Given the description of an element on the screen output the (x, y) to click on. 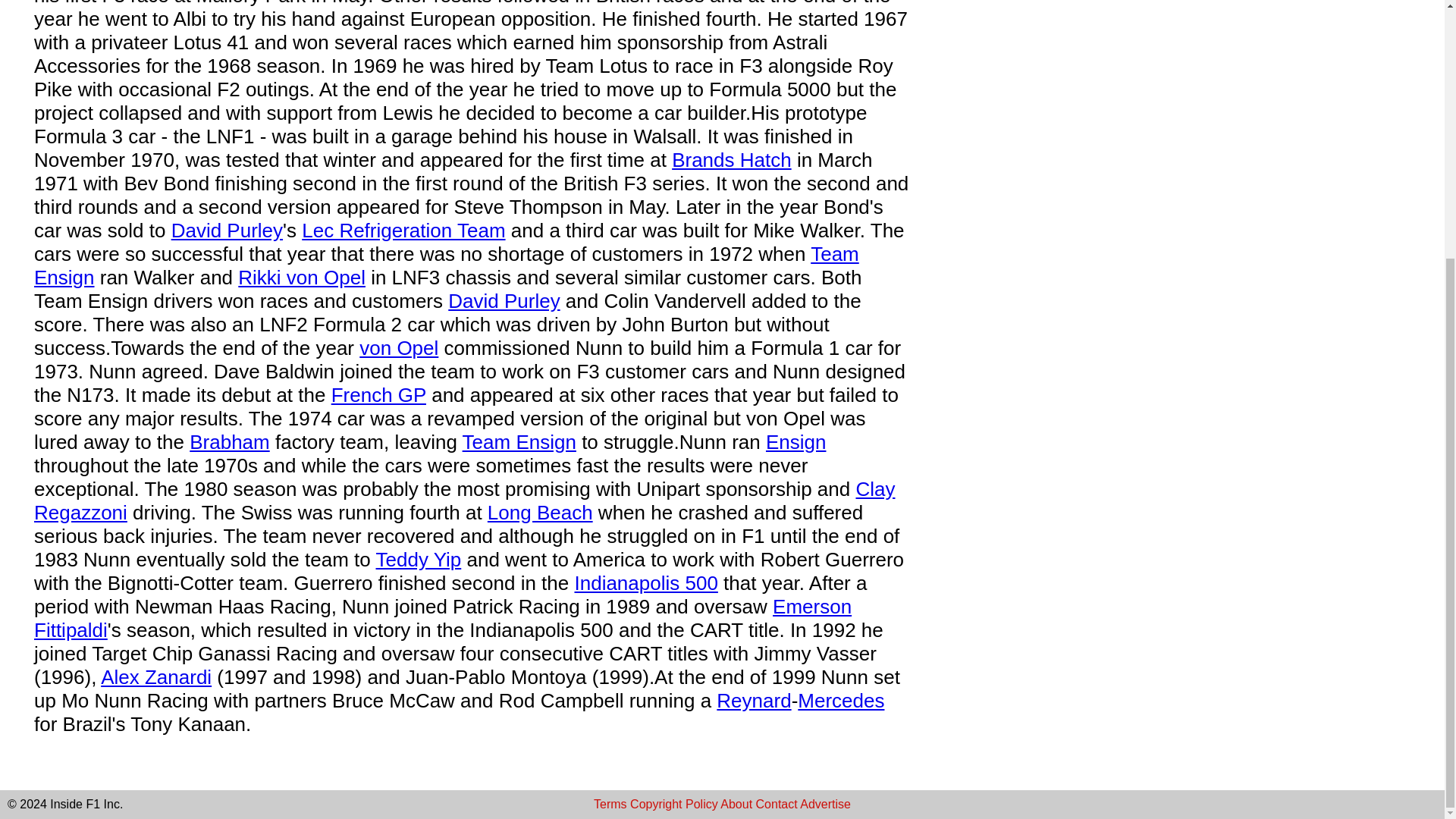
Alex Zanardi (155, 676)
David Purley (503, 300)
Teddy Yip (418, 558)
Terms (610, 803)
Team Ensign (519, 441)
Contact (776, 803)
Ensign (796, 441)
Advertise (824, 803)
Policy (701, 803)
Indianapolis 500 (645, 582)
Clay Regazzoni (464, 500)
Mercedes (840, 700)
Rikki von Opel (301, 277)
Emerson Fittipaldi (442, 618)
Brabham (229, 441)
